Given the description of an element on the screen output the (x, y) to click on. 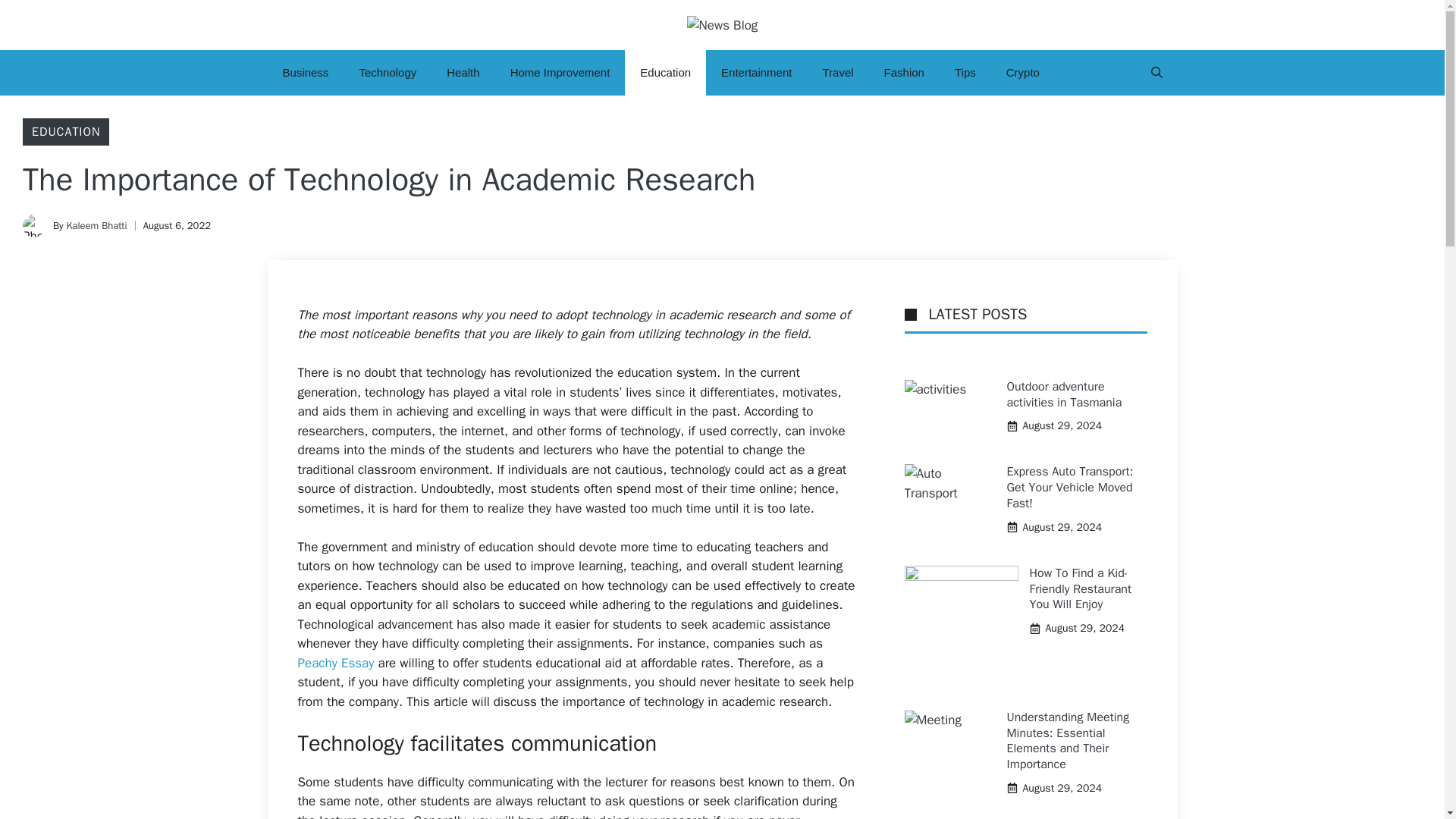
Fashion (904, 72)
Outdoor adventure activities in Tasmania (1064, 394)
Education (665, 72)
EDUCATION (66, 131)
Entertainment (756, 72)
Kaleem Bhatti (95, 225)
Home Improvement (560, 72)
Technology (386, 72)
Tips (965, 72)
